Given the description of an element on the screen output the (x, y) to click on. 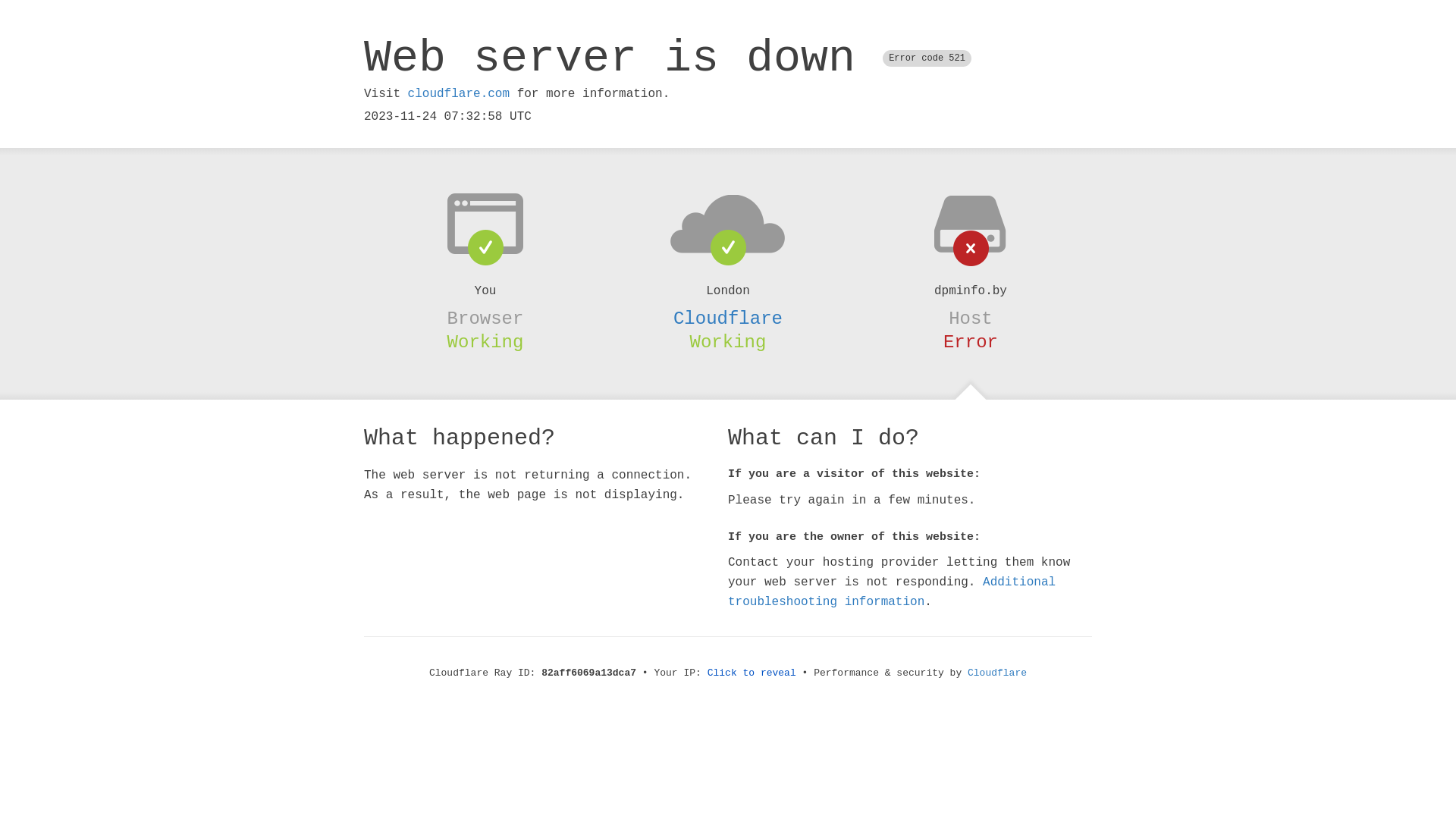
Cloudflare Element type: text (996, 672)
Cloudflare Element type: text (727, 318)
Click to reveal Element type: text (751, 672)
Additional troubleshooting information Element type: text (891, 591)
cloudflare.com Element type: text (458, 93)
